Given the description of an element on the screen output the (x, y) to click on. 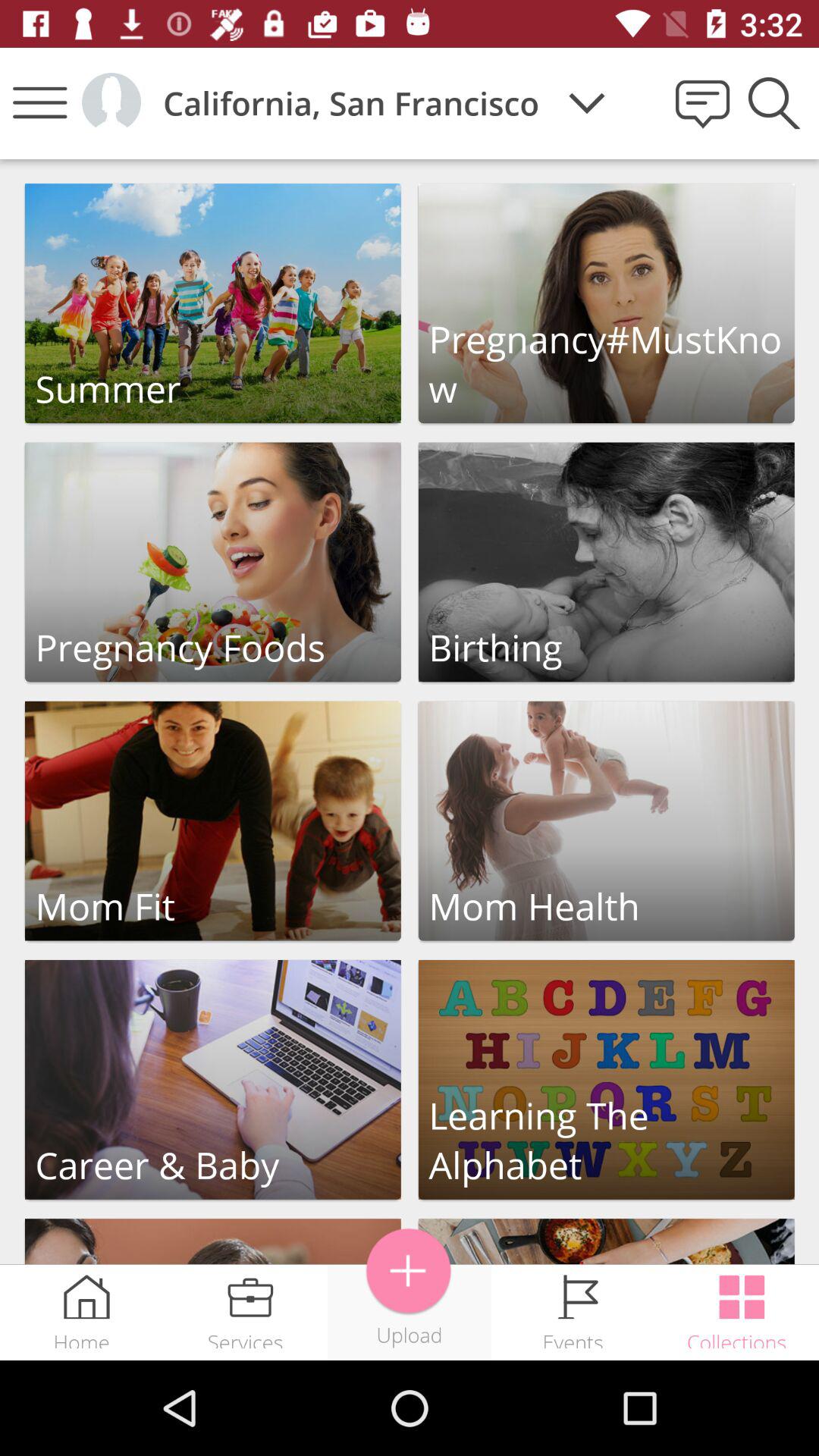
carrer baby button (212, 1079)
